Given the description of an element on the screen output the (x, y) to click on. 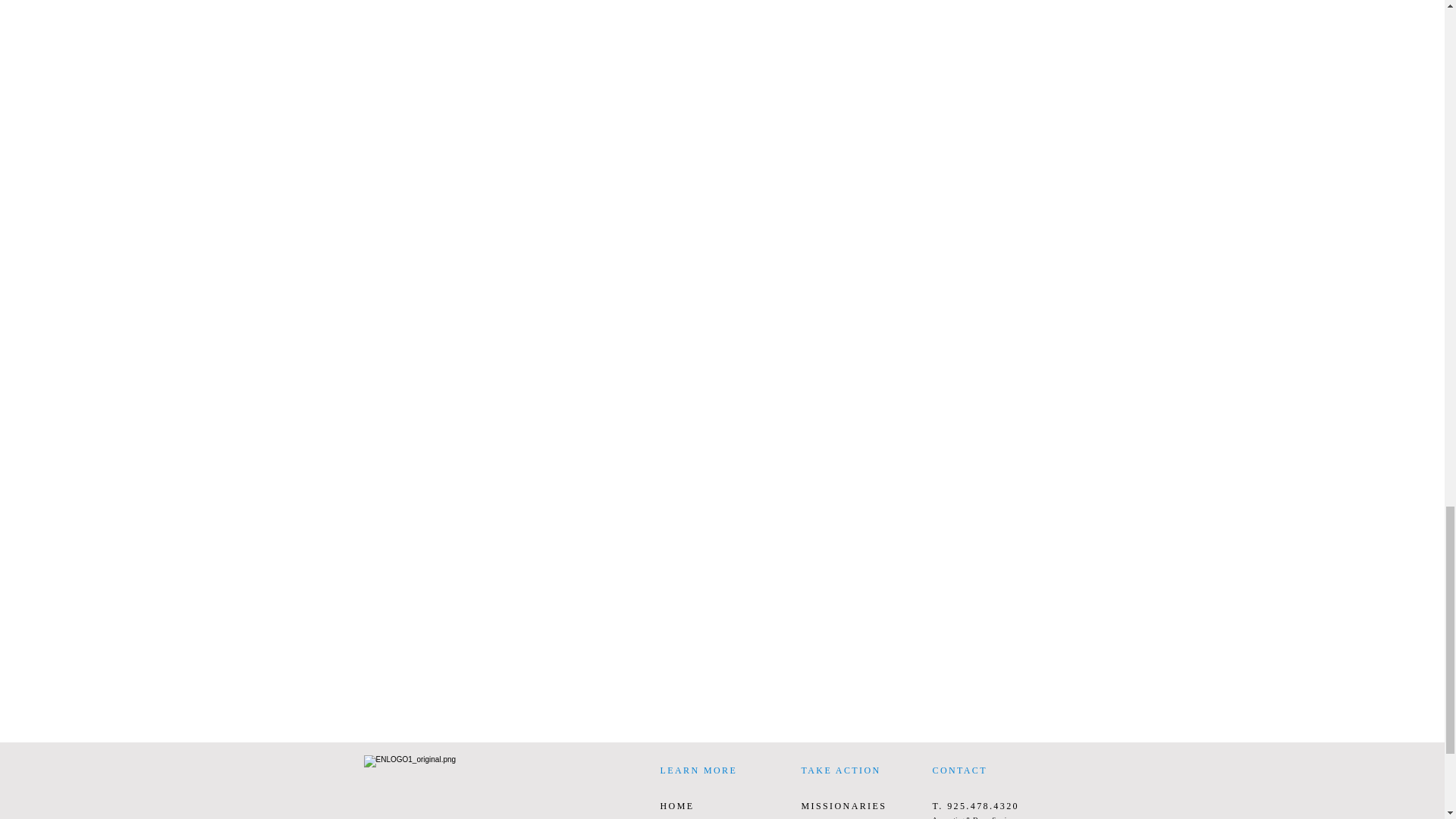
HOME (676, 805)
MISSIONARIES (843, 805)
